Given the description of an element on the screen output the (x, y) to click on. 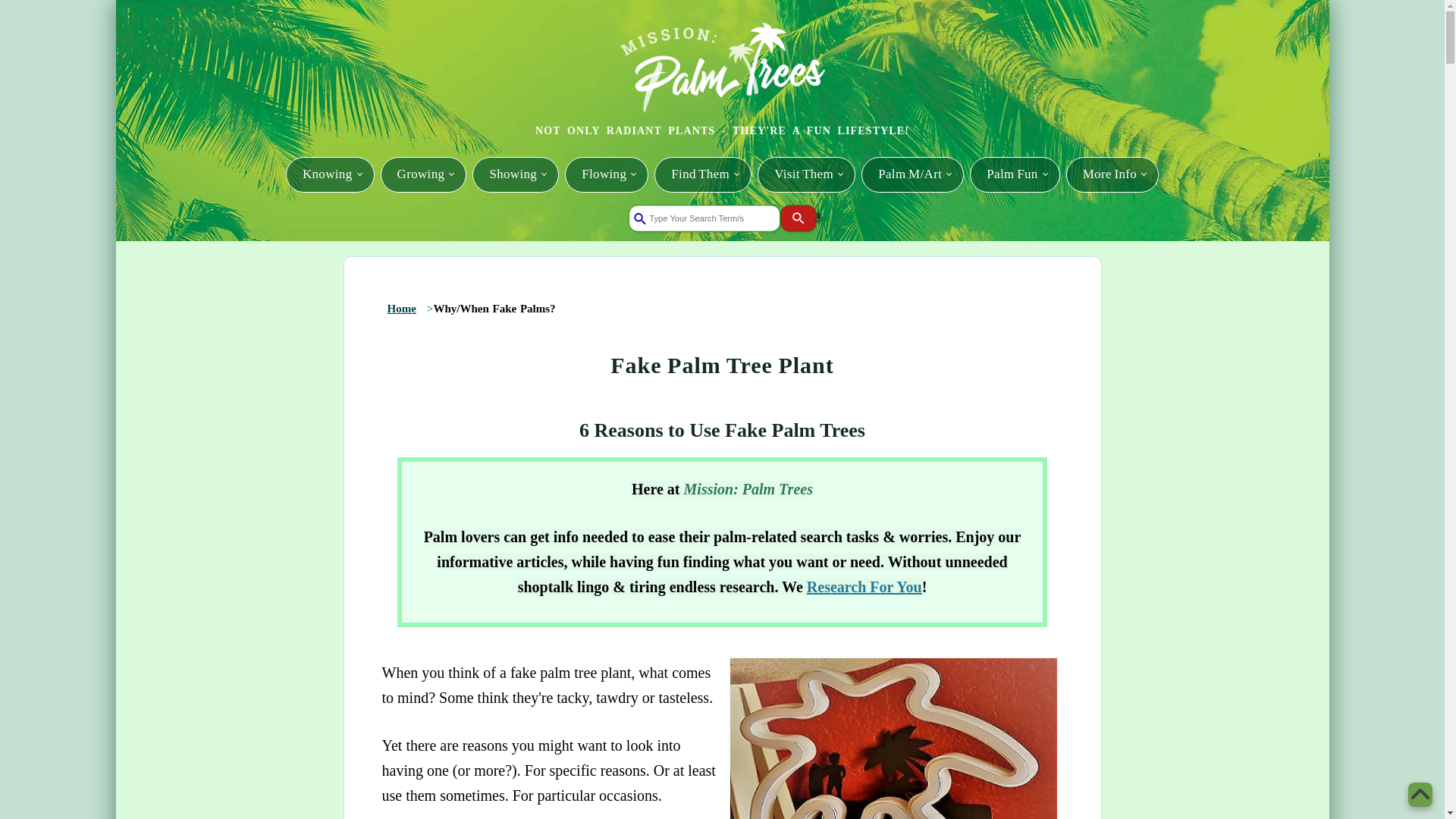
Home (401, 308)
Search (801, 221)
Research For You (863, 586)
